Given the description of an element on the screen output the (x, y) to click on. 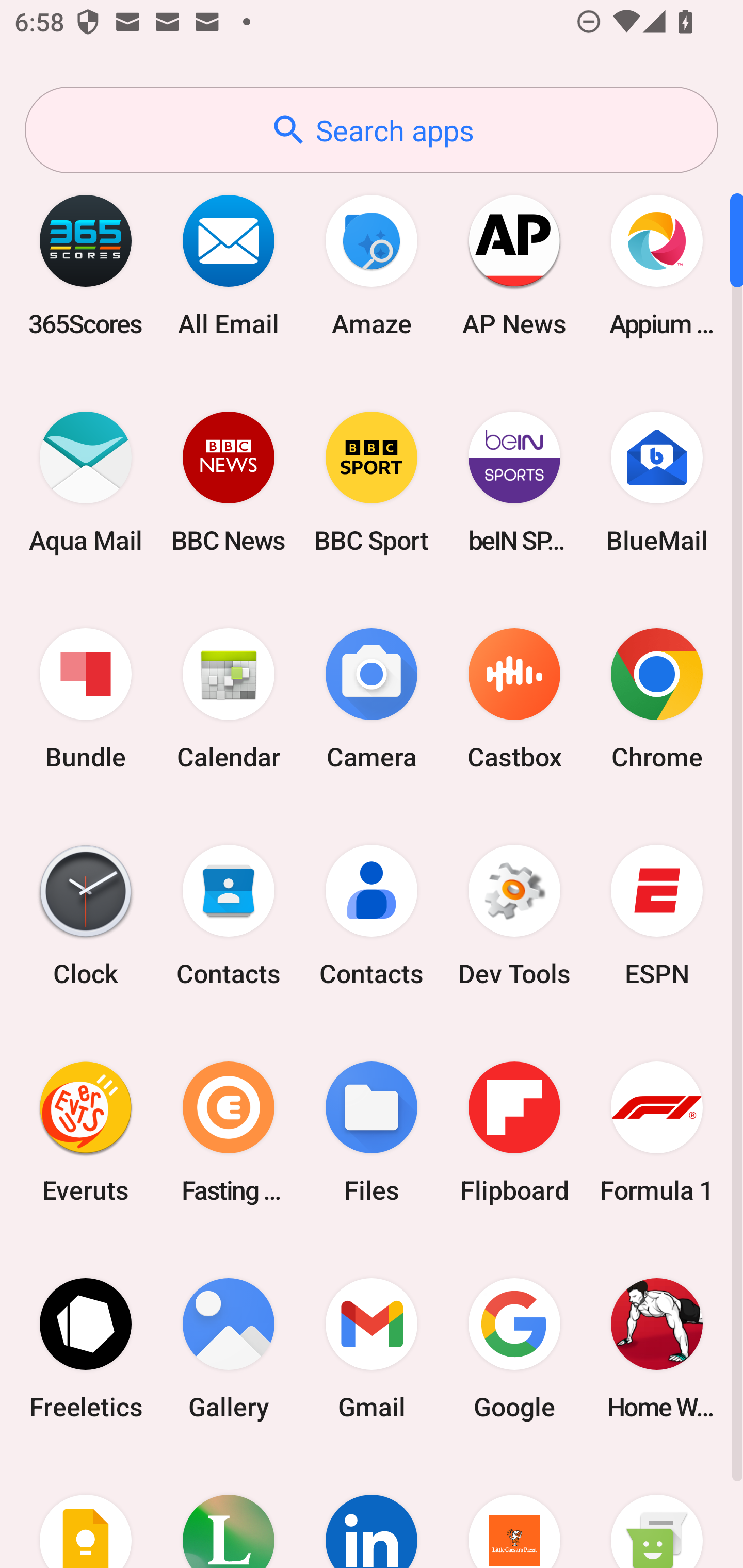
  Search apps (371, 130)
365Scores (85, 264)
All Email (228, 264)
Amaze (371, 264)
AP News (514, 264)
Appium Settings (656, 264)
Aqua Mail (85, 482)
BBC News (228, 482)
BBC Sport (371, 482)
beIN SPORTS (514, 482)
BlueMail (656, 482)
Bundle (85, 699)
Calendar (228, 699)
Camera (371, 699)
Castbox (514, 699)
Chrome (656, 699)
Clock (85, 915)
Contacts (228, 915)
Contacts (371, 915)
Dev Tools (514, 915)
ESPN (656, 915)
Everuts (85, 1131)
Fasting Coach (228, 1131)
Files (371, 1131)
Flipboard (514, 1131)
Formula 1 (656, 1131)
Freeletics (85, 1348)
Gallery (228, 1348)
Gmail (371, 1348)
Google (514, 1348)
Home Workout (656, 1348)
